Given the description of an element on the screen output the (x, y) to click on. 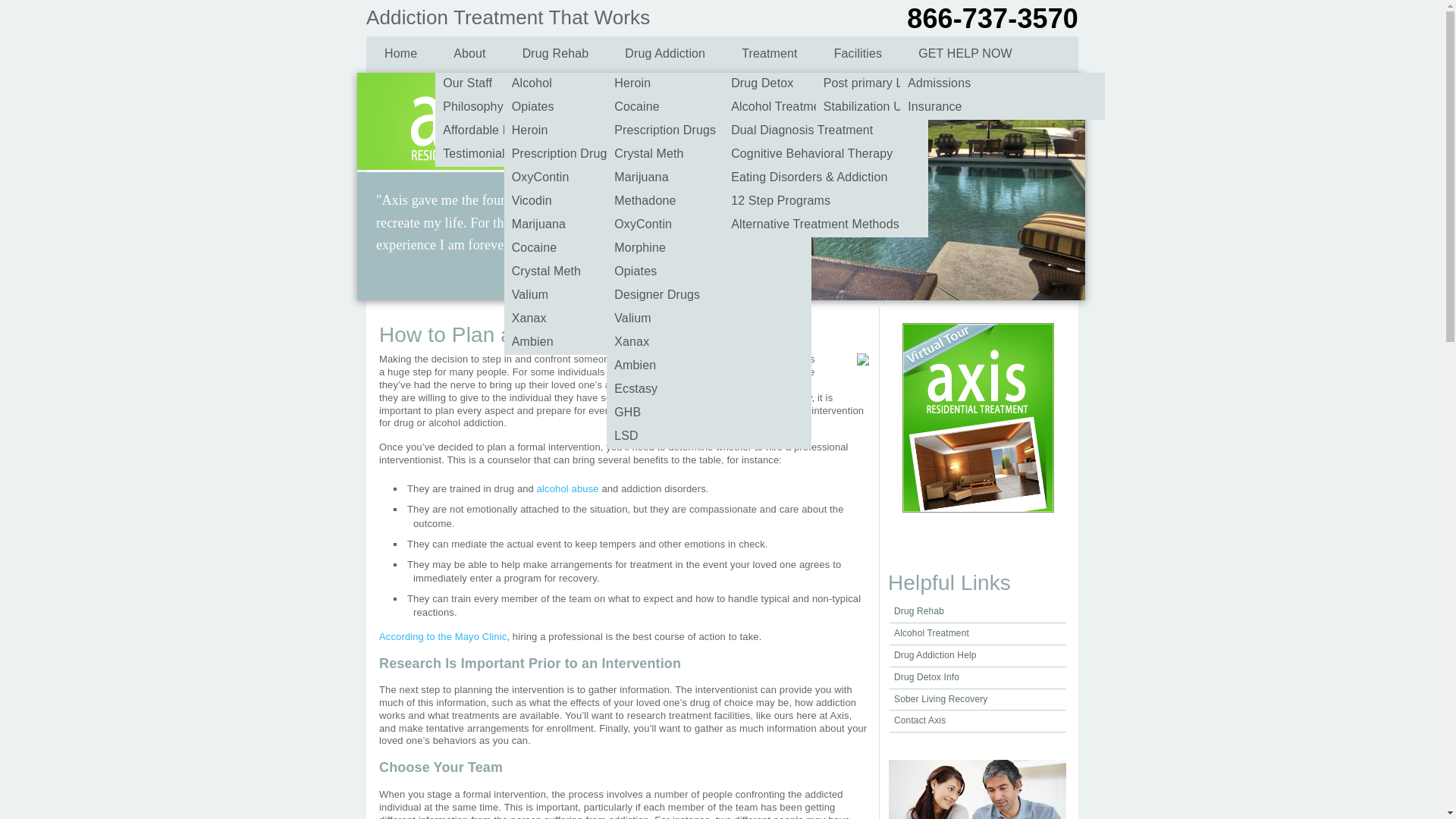
Home (400, 56)
Drug Detox Info (926, 676)
Marijuana (606, 225)
Ecstasy (708, 390)
Ambien (606, 342)
Xanax (708, 342)
Alcohol Treatment (931, 633)
Affordable Drug Rehab (537, 131)
Heroin (708, 84)
Axis Virtual Tour (971, 509)
